Given the description of an element on the screen output the (x, y) to click on. 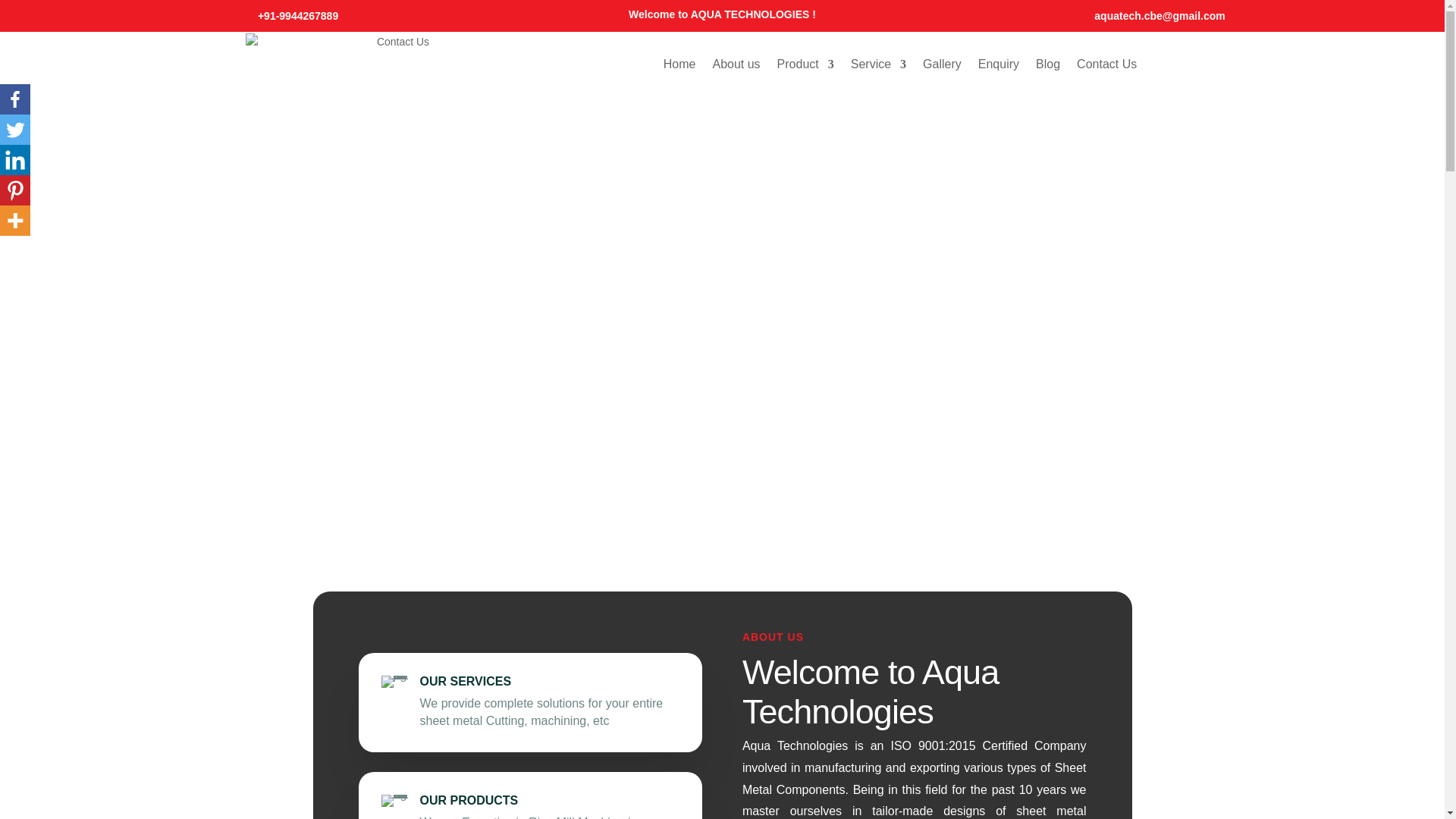
Product (805, 64)
Contact Us (1107, 64)
Service (877, 64)
